Given the description of an element on the screen output the (x, y) to click on. 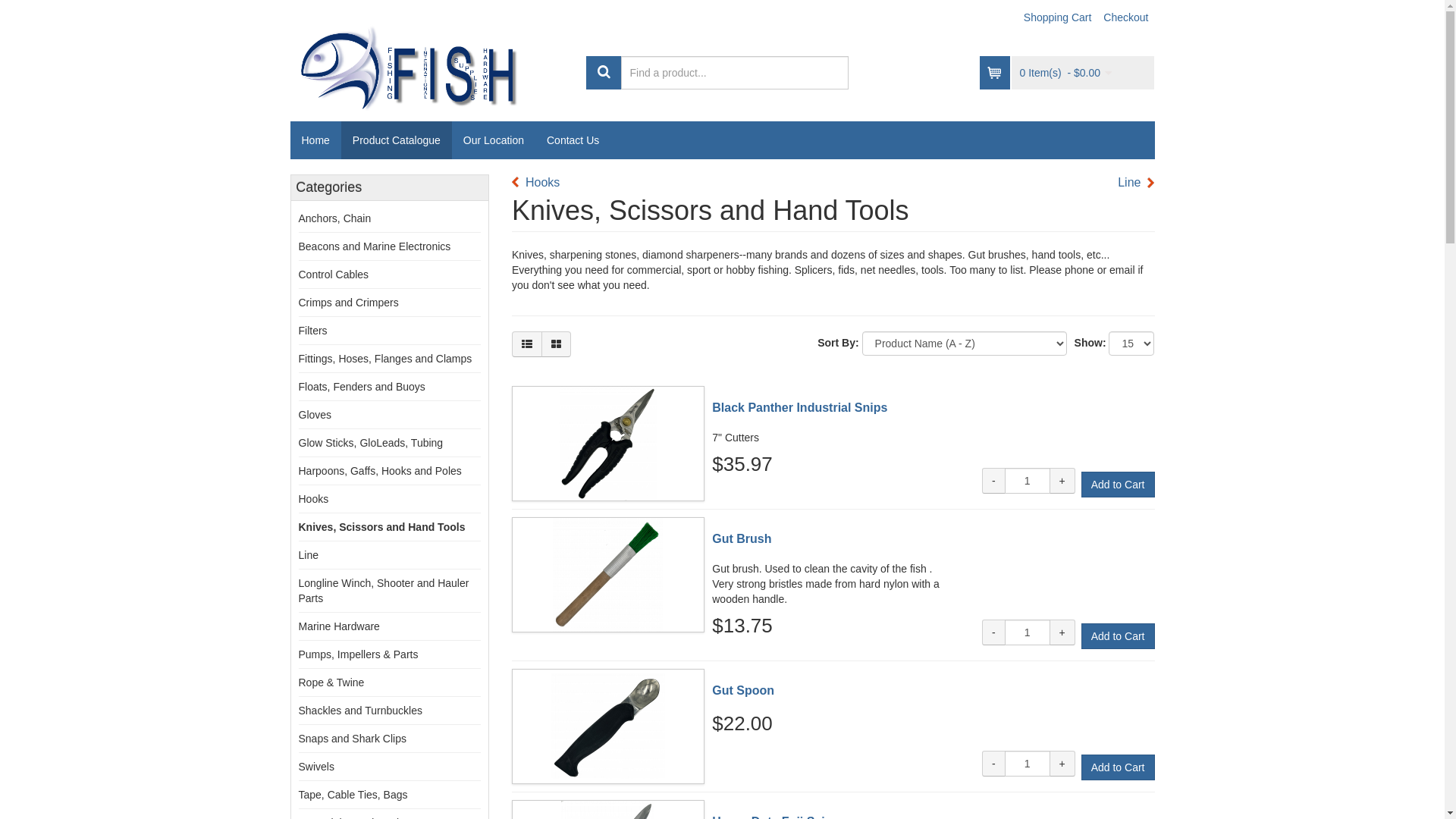
Gut Spoon Element type: text (743, 690)
Gut Brush Element type: text (741, 538)
Pumps, Impellers & Parts Element type: text (358, 654)
+ Element type: text (1062, 632)
Marine Hardware Element type: text (338, 626)
Tape, Cable Ties, Bags Element type: text (352, 794)
Add to Cart Element type: text (1117, 484)
Checkout Element type: text (1125, 17)
Control Cables Element type: text (333, 274)
Add to Cart Element type: text (1117, 767)
Gut Brush Element type: hover (608, 574)
Add to Cart Element type: text (1117, 636)
Beacons and Marine Electronics Element type: text (374, 246)
Line Element type: text (1135, 182)
Knives, Scissors and Hand Tools Element type: text (381, 526)
Gloves Element type: text (315, 414)
Longline Winch, Shooter and Hauler Parts Element type: text (383, 590)
Home Element type: text (314, 140)
Gut Spoon Element type: hover (608, 677)
Our Location Element type: text (493, 140)
Filters Element type: text (312, 330)
Crimps and Crimpers Element type: text (348, 302)
Rope & Twine Element type: text (331, 682)
Hooks Element type: text (535, 182)
0 Item(s)  - $0.00 Element type: text (1065, 72)
Harpoons, Gaffs, Hooks and Poles Element type: text (379, 470)
+ Element type: text (1062, 763)
Hooks Element type: text (313, 498)
Black Panther Industrial Snips Element type: text (799, 407)
Gut Brush Element type: hover (608, 525)
Contact Us Element type: text (572, 140)
Swivels Element type: text (316, 766)
Gut Spoon Element type: hover (608, 726)
Shopping Cart Element type: text (1057, 17)
Black Panther Industrial Snips Element type: hover (608, 443)
Anchors, Chain Element type: text (334, 218)
- Element type: text (993, 480)
Product Catalogue Element type: text (396, 140)
+ Element type: text (1062, 480)
Black Panther Industrial Snips Element type: hover (608, 394)
Fishing International Supplies & Hardware Element type: hover (425, 61)
Fittings, Hoses, Flanges and Clamps Element type: text (385, 358)
Shackles and Turnbuckles Element type: text (360, 710)
Glow Sticks, GloLeads, Tubing Element type: text (370, 442)
Heavy Duty Fuji Scissors Element type: hover (608, 808)
- Element type: text (993, 763)
Line Element type: text (308, 555)
Floats, Fenders and Buoys Element type: text (361, 386)
Snaps and Shark Clips Element type: text (352, 738)
- Element type: text (993, 632)
